Given the description of an element on the screen output the (x, y) to click on. 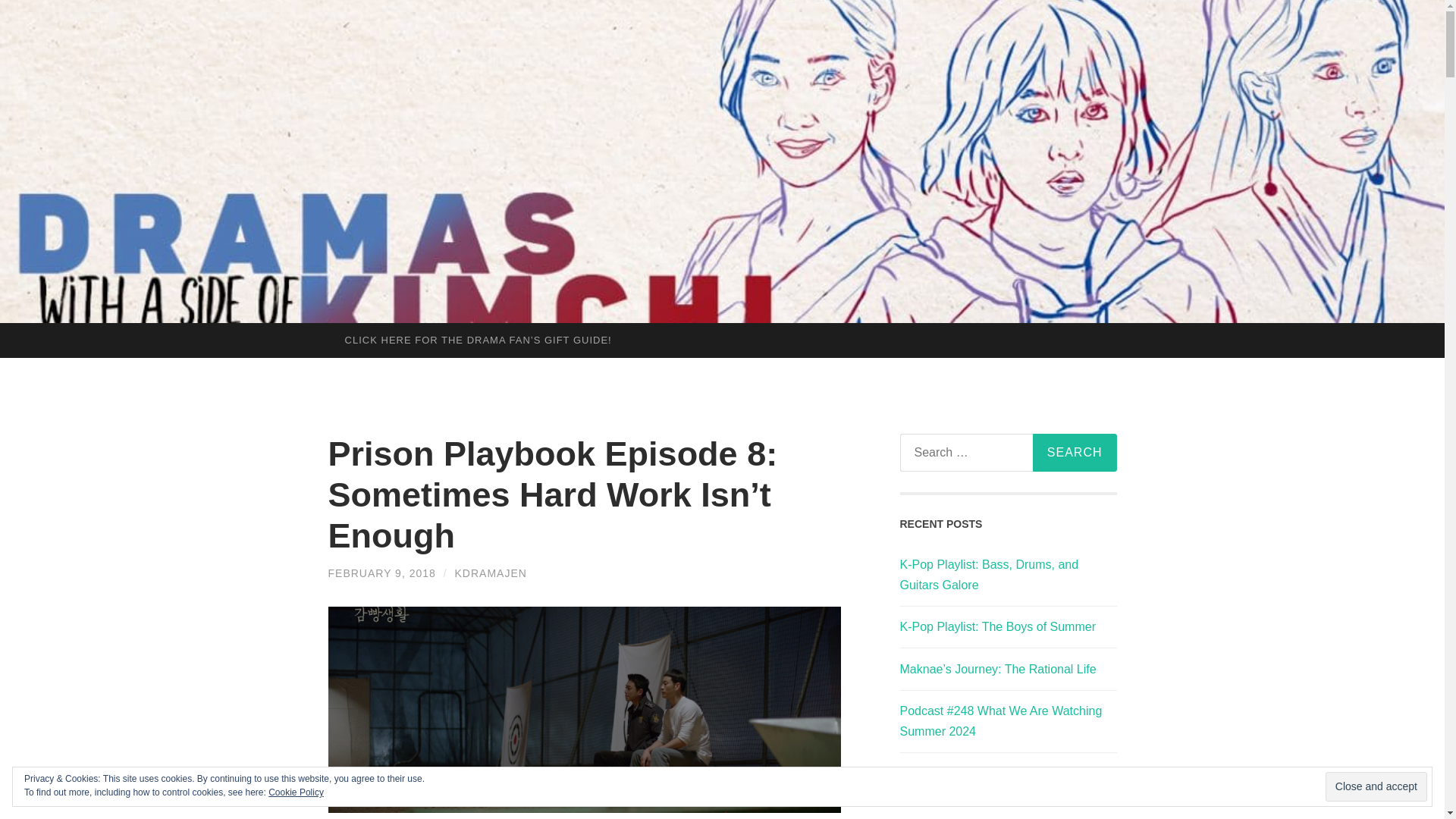
KDRAMAJEN (490, 573)
Close and accept (1375, 786)
K-Pop Playlist: The Boys of Summer (996, 626)
Search (1074, 452)
Search (1074, 452)
SKIP TO CONTENT (16, 334)
Search (1074, 452)
K-Pop Playlist: Bass, Drums, and Guitars Galore (988, 574)
FEBRUARY 9, 2018 (381, 573)
